Given the description of an element on the screen output the (x, y) to click on. 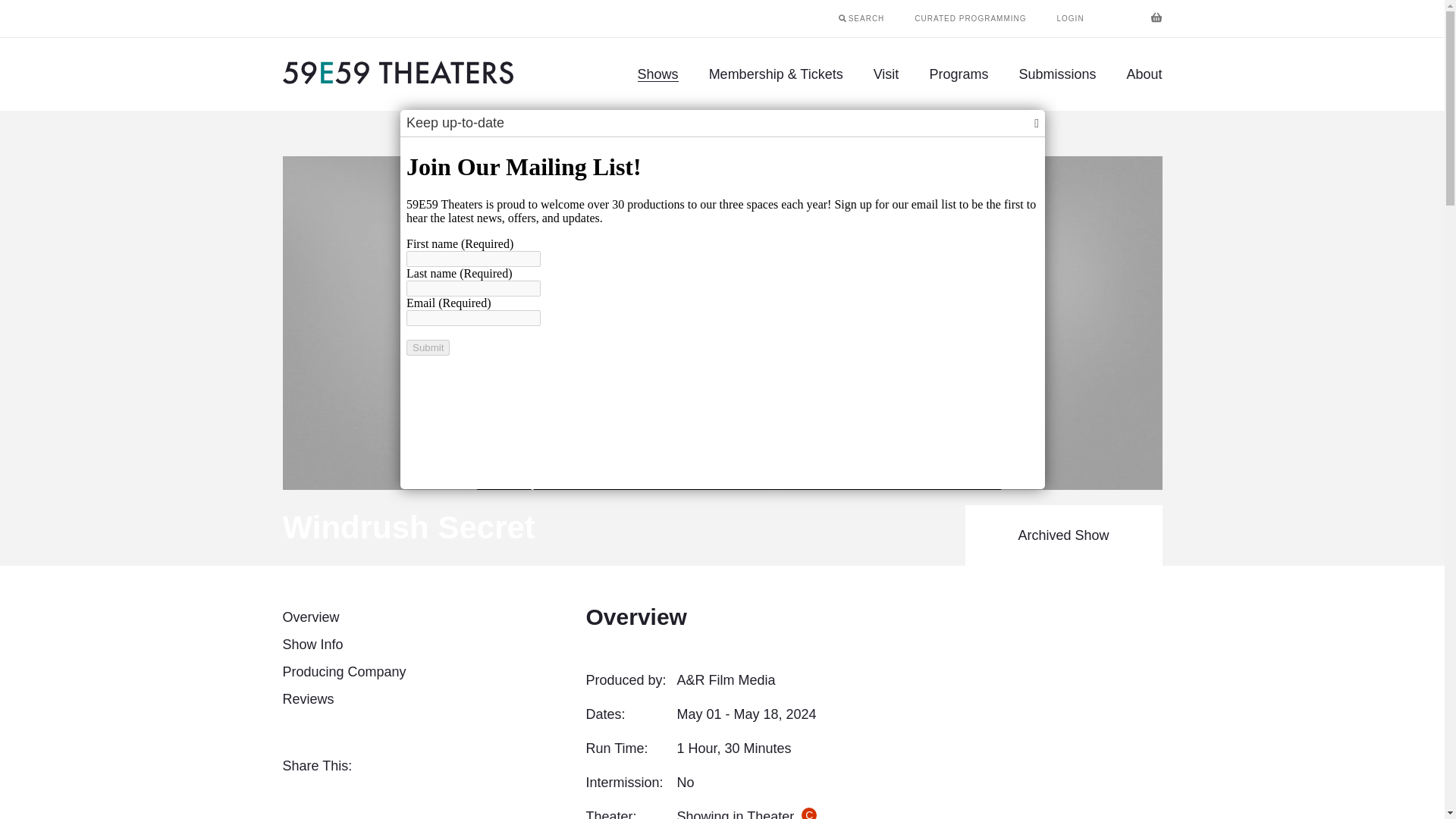
Programs (958, 74)
LOGIN (1070, 18)
Visit (886, 74)
logo-59e59 (397, 79)
CURATED PROGRAMMING (970, 18)
About (1143, 74)
Submissions (1056, 74)
logo-59e59 (397, 72)
Shows (658, 74)
